Given the description of an element on the screen output the (x, y) to click on. 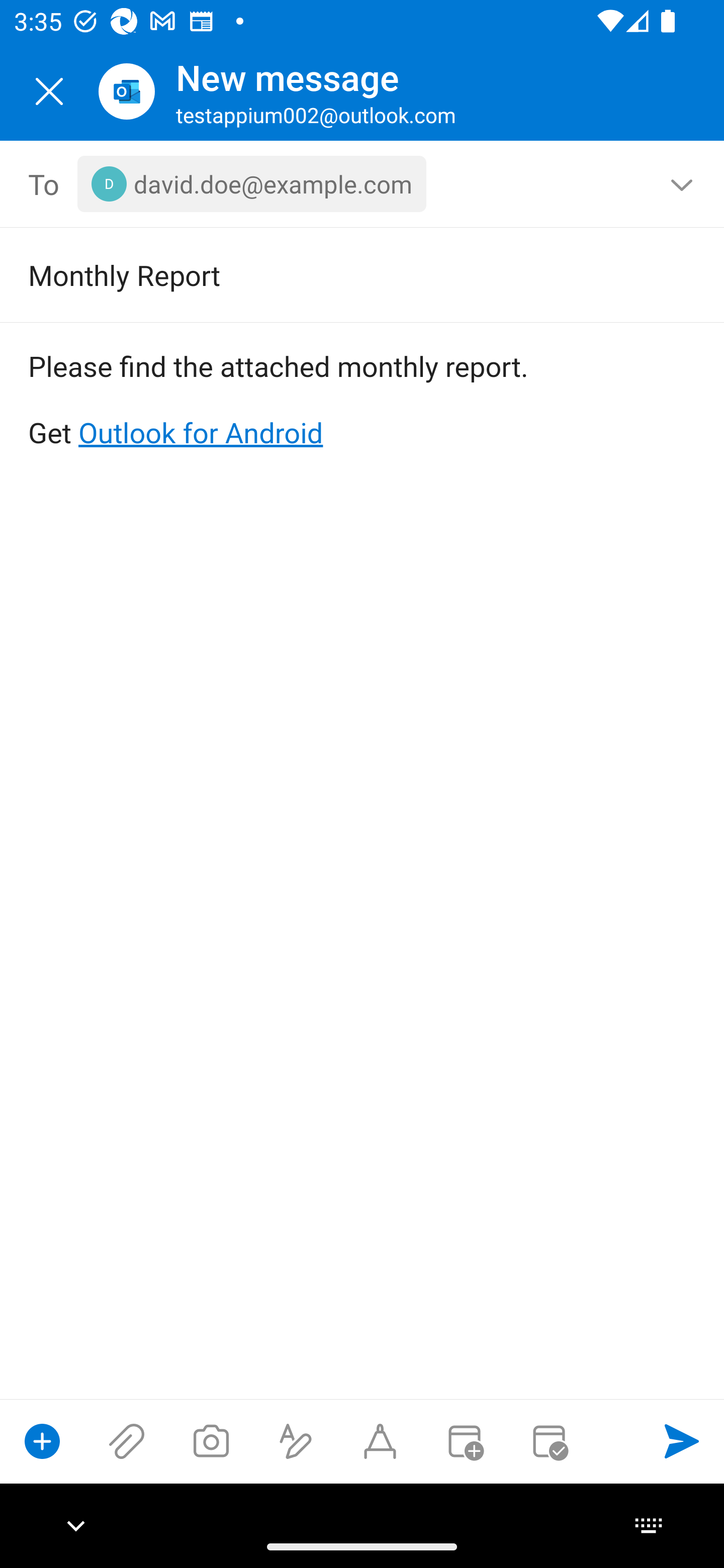
Close (49, 91)
To, 1 recipient <david.doe@example.com> (362, 184)
Monthly Report (333, 274)
Show compose options (42, 1440)
Attach files (126, 1440)
Take a photo (210, 1440)
Show formatting options (295, 1440)
Start Ink compose (380, 1440)
Convert to event (464, 1440)
Send availability (548, 1440)
Send (681, 1440)
